Given the description of an element on the screen output the (x, y) to click on. 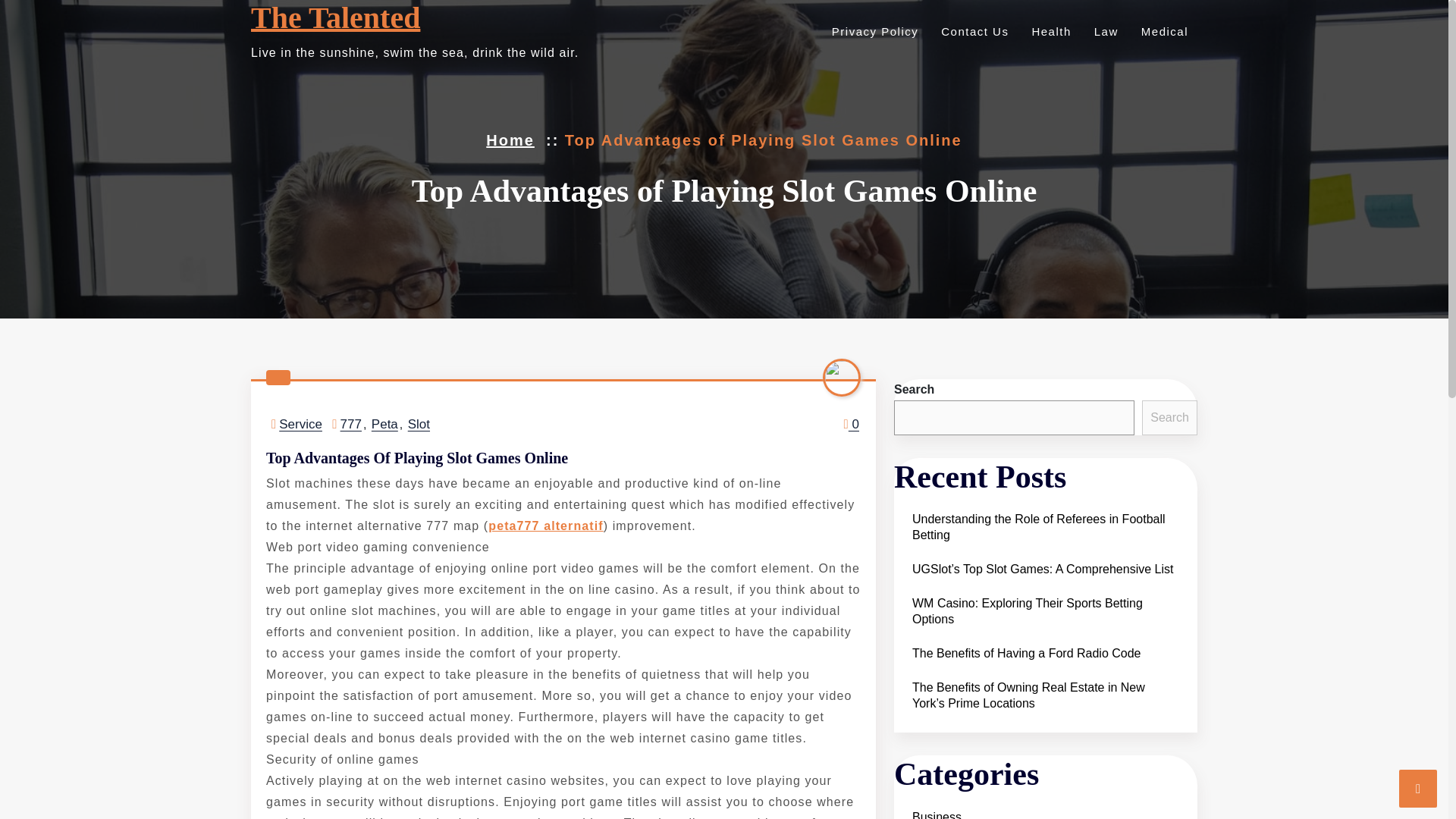
Law (1103, 31)
Business (935, 811)
Law (1103, 31)
Understanding the Role of Referees in Football Betting (1045, 526)
Service (300, 423)
Health (1048, 31)
Privacy Policy (872, 31)
The Talented (335, 17)
Privacy Policy (872, 31)
Slot (418, 423)
